Given the description of an element on the screen output the (x, y) to click on. 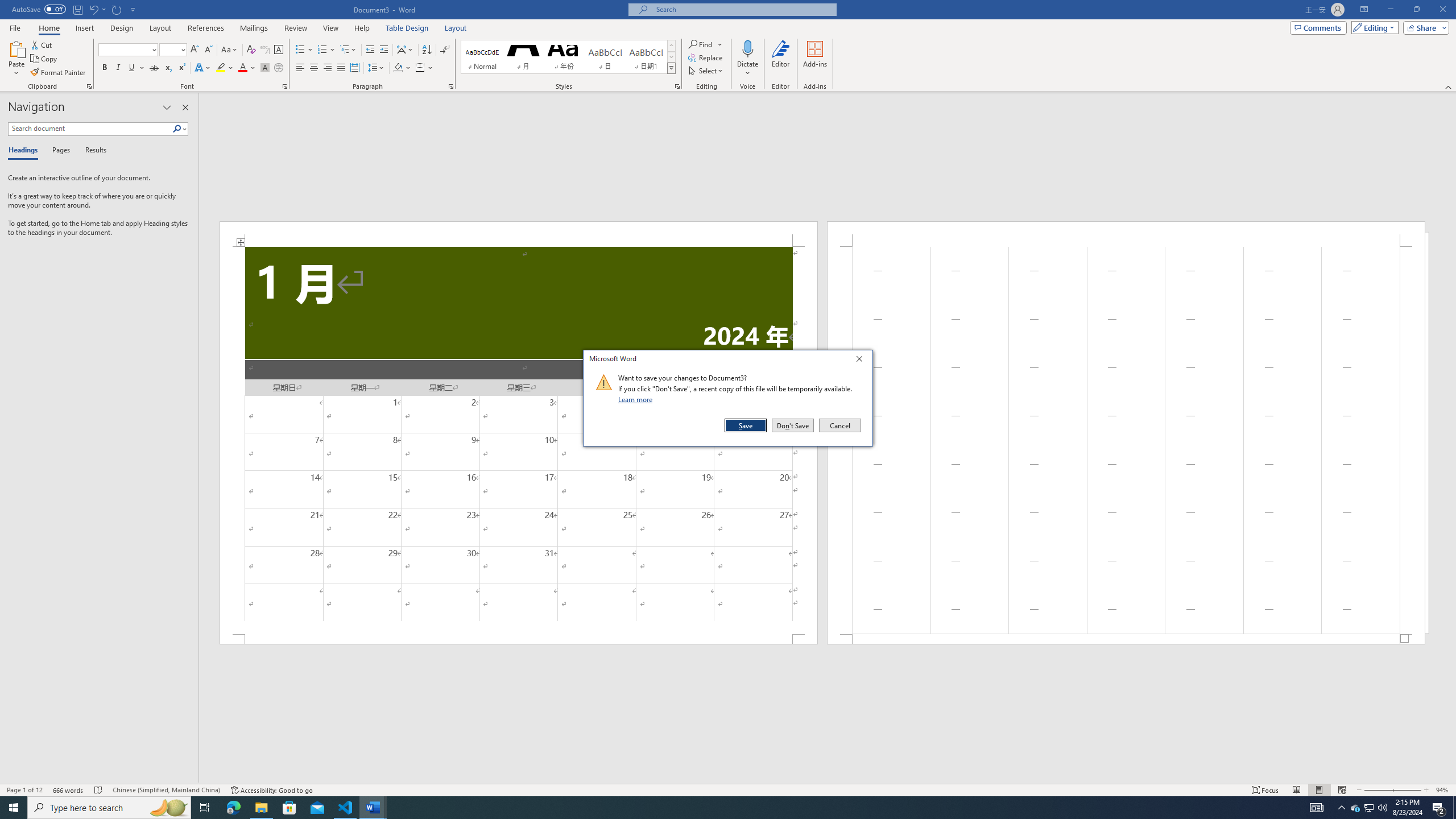
Phonetic Guide... (264, 49)
Font Color RGB(255, 0, 0) (241, 67)
Align Left (300, 67)
Language Chinese (Simplified, Mainland China) (1355, 807)
Visual Studio Code - 1 running window (165, 790)
Class: NetUIScrollBar (345, 807)
Class: MsoCommandBar (827, 778)
Enclose Characters... (728, 789)
AutomationID: QuickStylesGallery (278, 67)
